Given the description of an element on the screen output the (x, y) to click on. 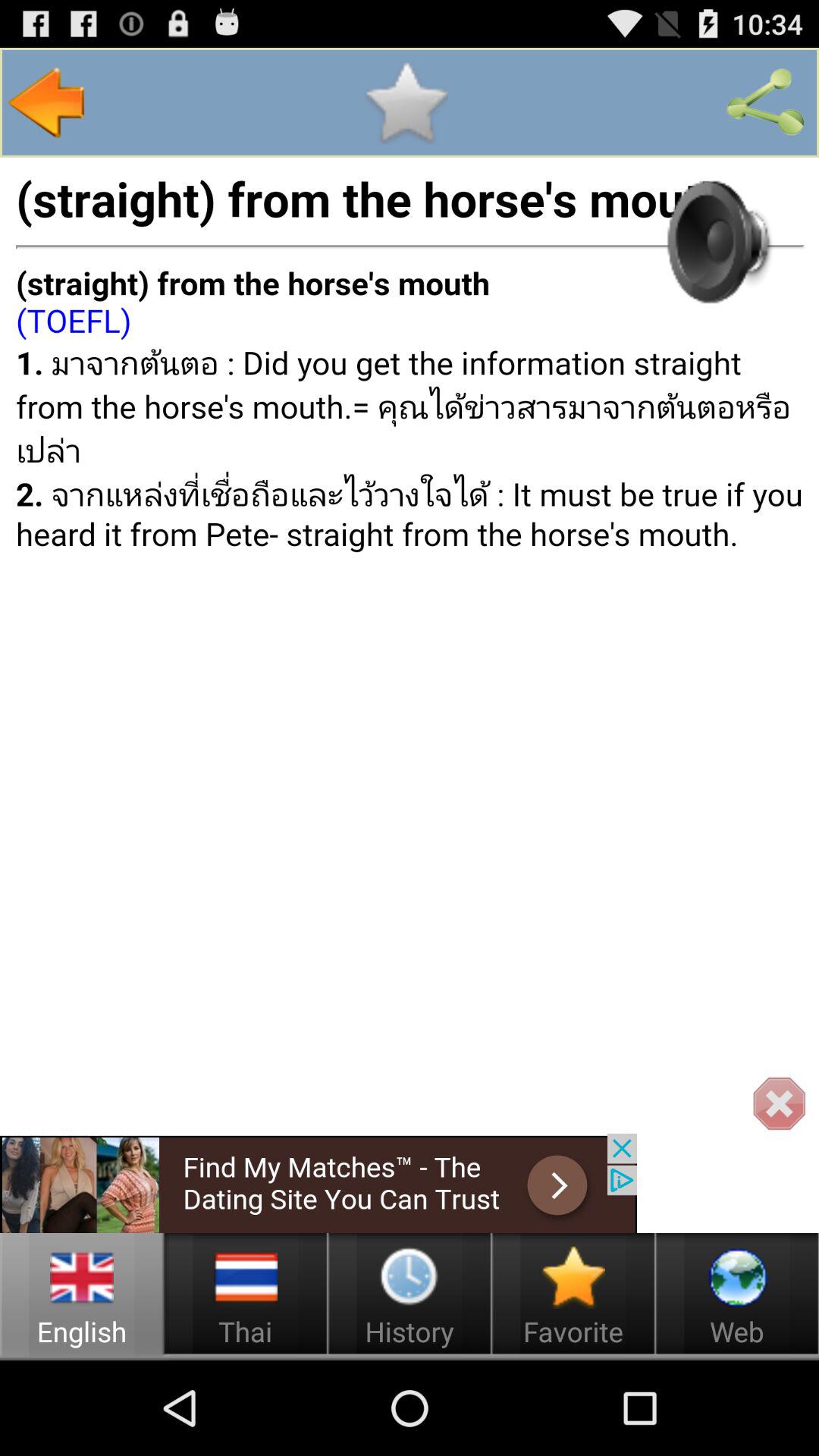
favorite the page (406, 102)
